Given the description of an element on the screen output the (x, y) to click on. 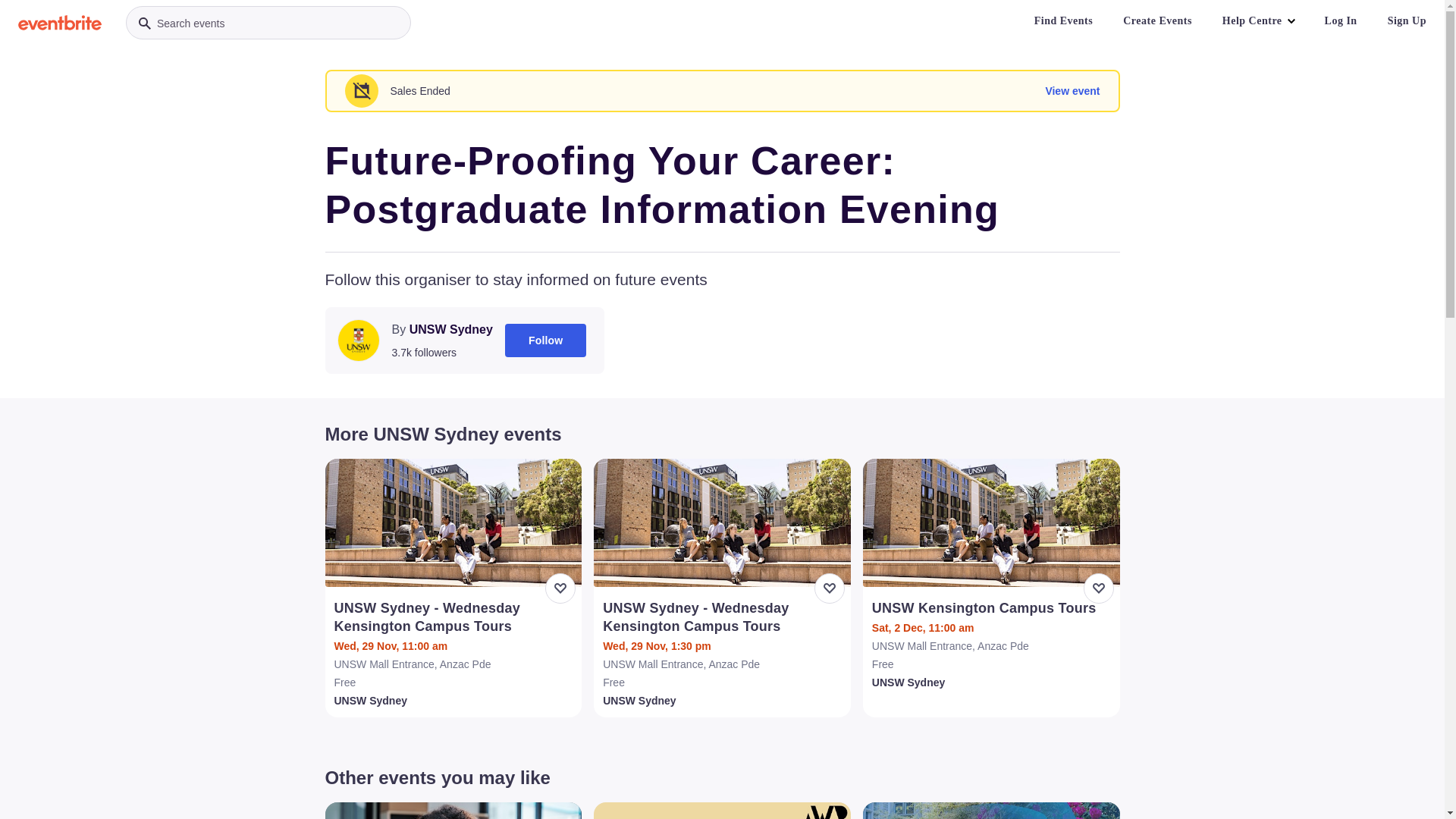
Find Events Element type: text (1063, 21)
Search events Element type: text (268, 22)
Sign Up Element type: text (1406, 21)
Eventbrite Element type: hover (59, 22)
Create Events Element type: text (1157, 21)
Log In Element type: text (1340, 21)
Follow Element type: text (545, 340)
View event Element type: text (1071, 90)
UNSW Sydney - Wednesday Kensington Campus Tours Element type: text (723, 617)
UNSW Sydney - Wednesday Kensington Campus Tours Element type: text (454, 617)
UNSW Kensington Campus Tours Element type: text (992, 608)
